Given the description of an element on the screen output the (x, y) to click on. 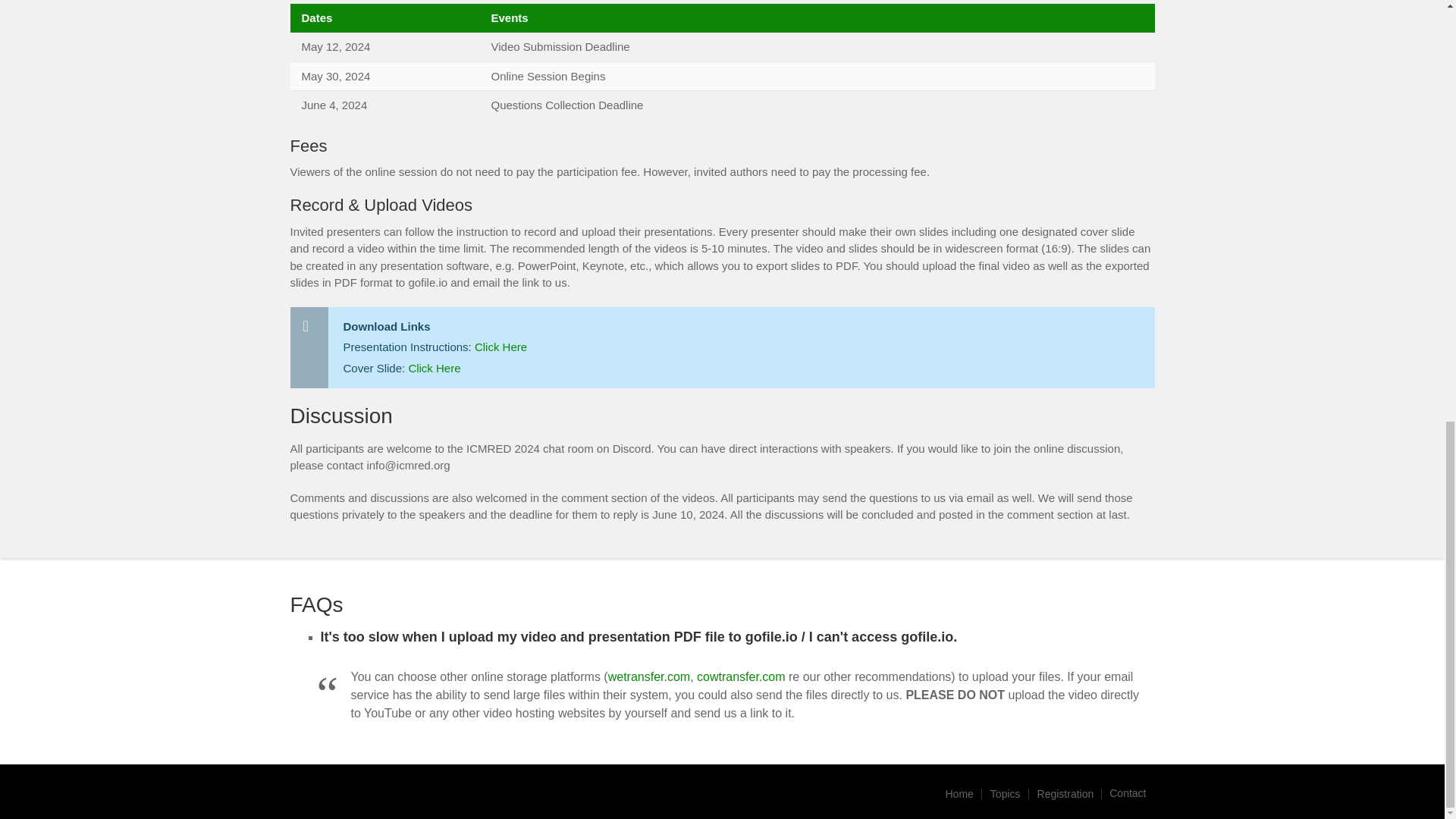
Contact (1127, 792)
cowtransfer.com (740, 676)
Home (959, 793)
Registration (1065, 793)
Topics (1005, 793)
Click Here (500, 346)
wetransfer.com (649, 676)
Click Here (433, 367)
